Given the description of an element on the screen output the (x, y) to click on. 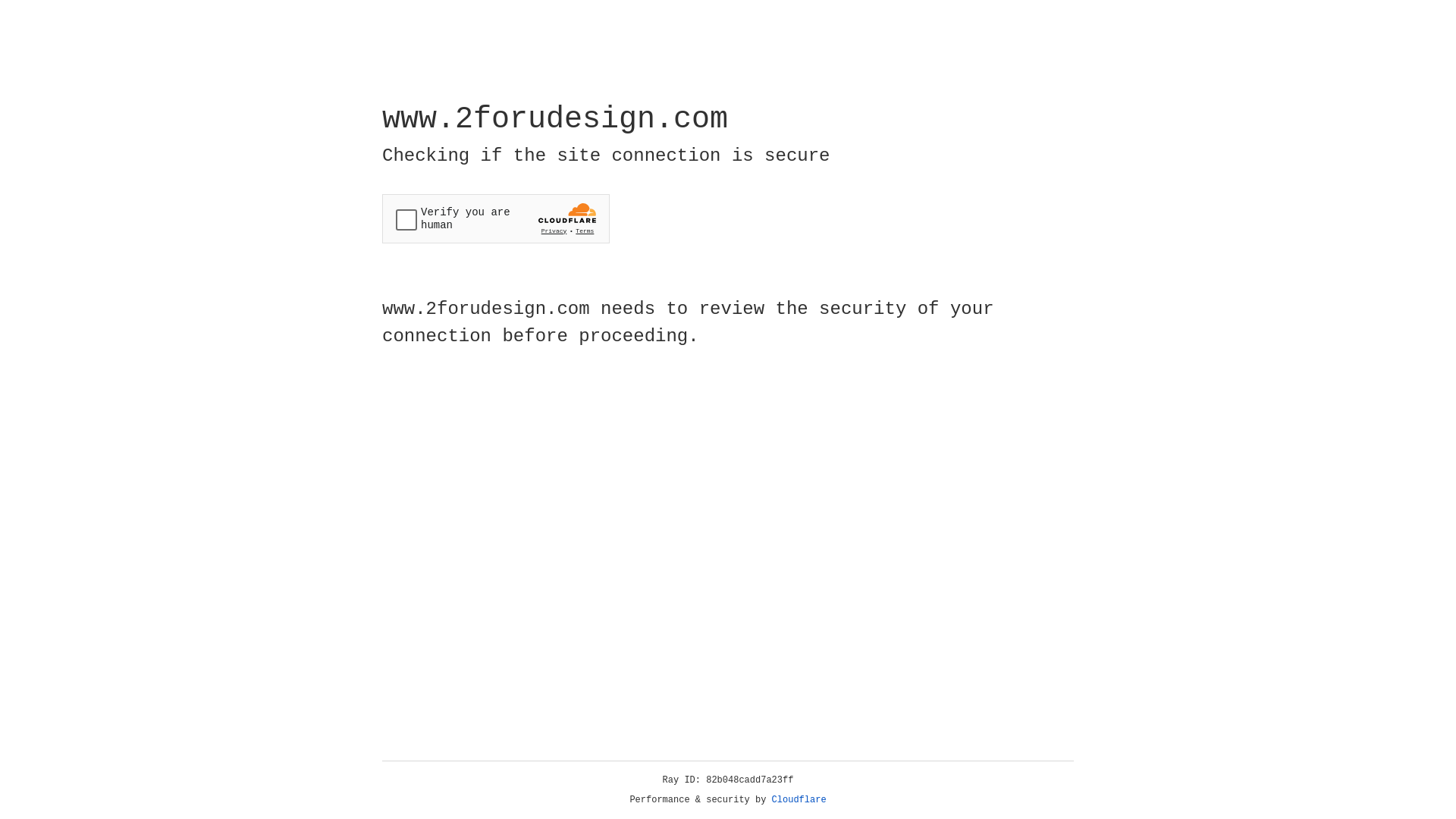
Widget containing a Cloudflare security challenge Element type: hover (495, 218)
Cloudflare Element type: text (798, 799)
